Given the description of an element on the screen output the (x, y) to click on. 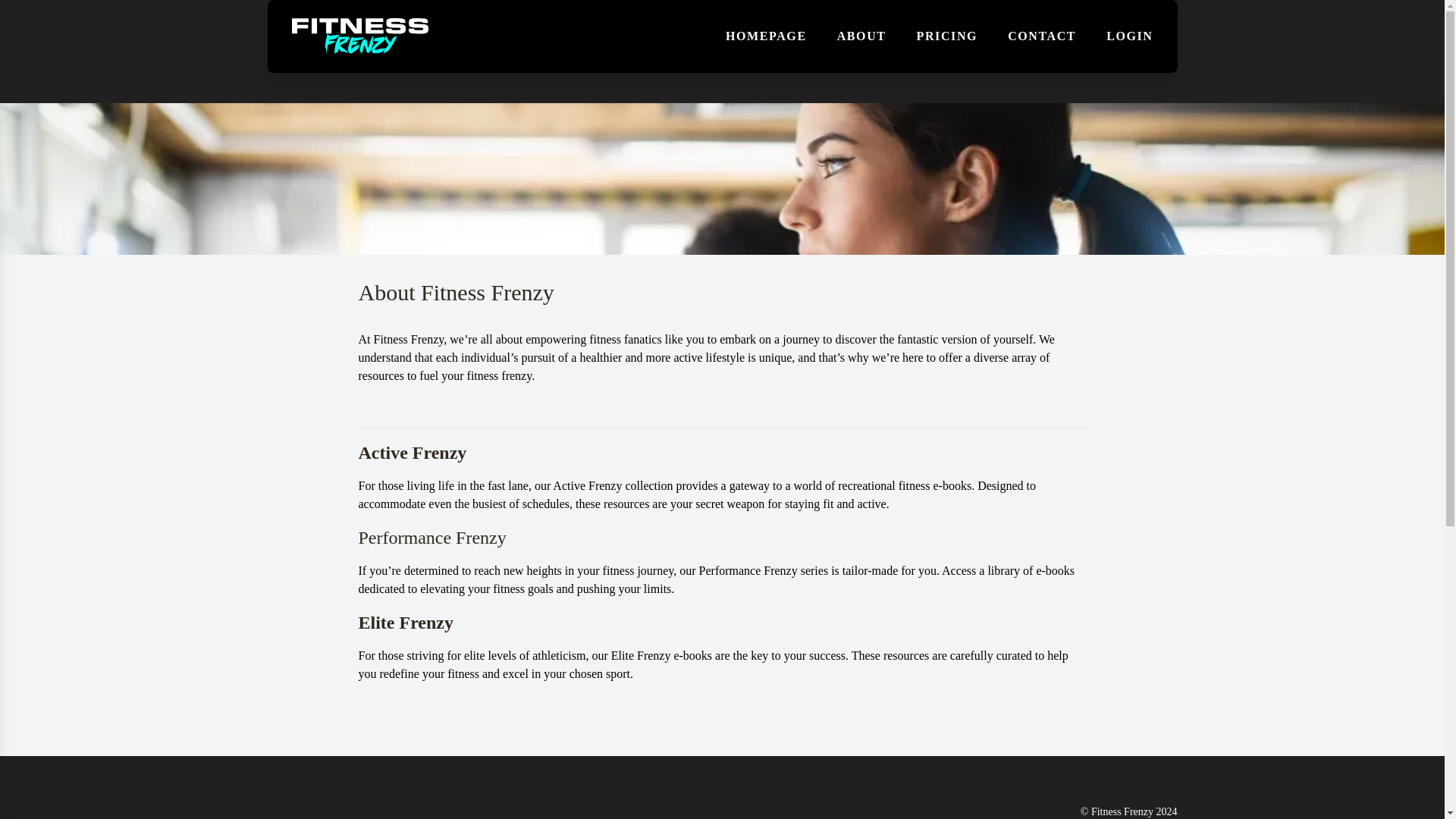
PRICING (947, 35)
ABOUT (861, 35)
HOMEPAGE (765, 35)
CONTACT (1041, 35)
LOGIN (1129, 35)
